Given the description of an element on the screen output the (x, y) to click on. 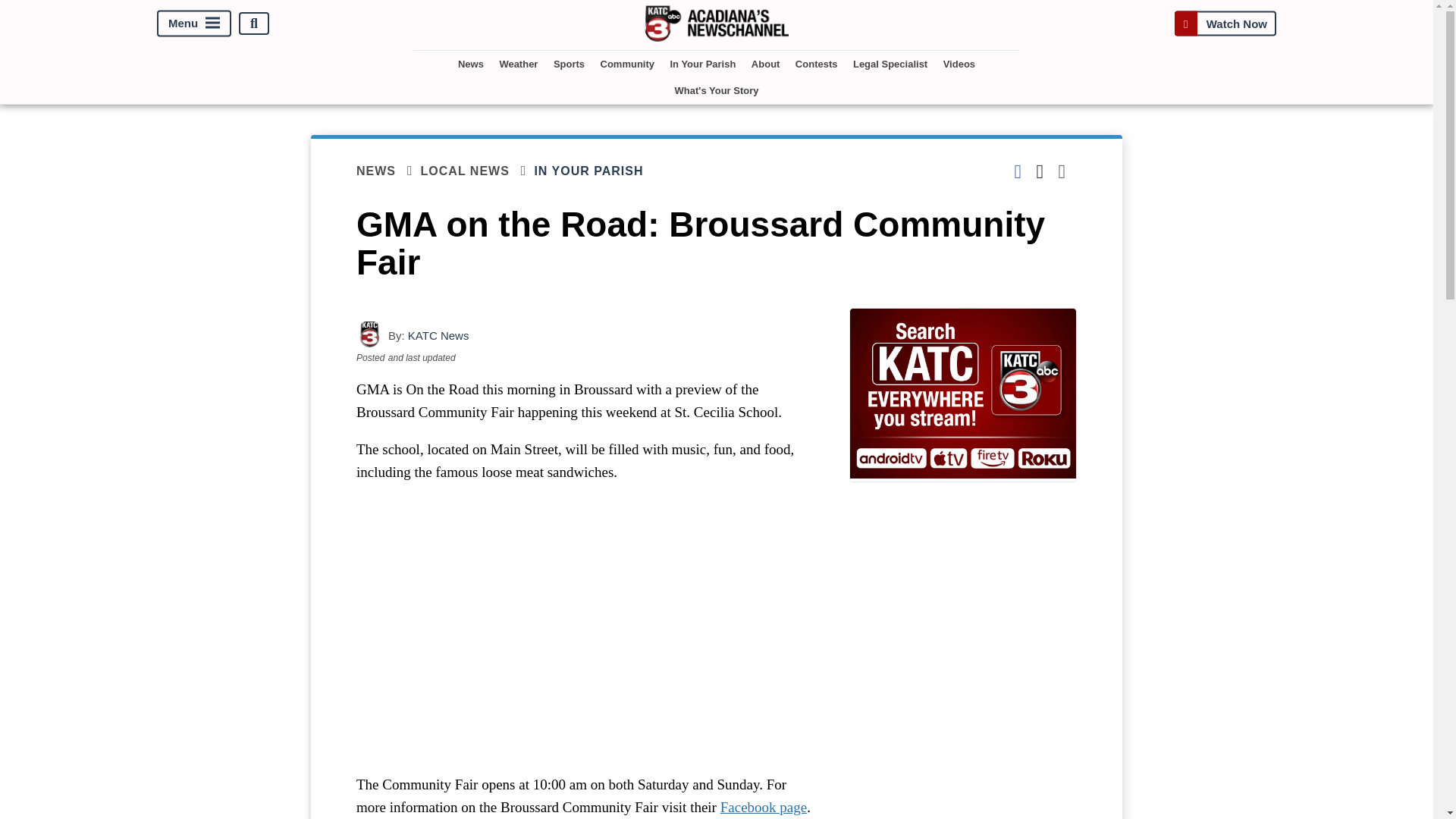
Watch Now (1224, 23)
Menu (194, 23)
YouTube player (587, 627)
